Given the description of an element on the screen output the (x, y) to click on. 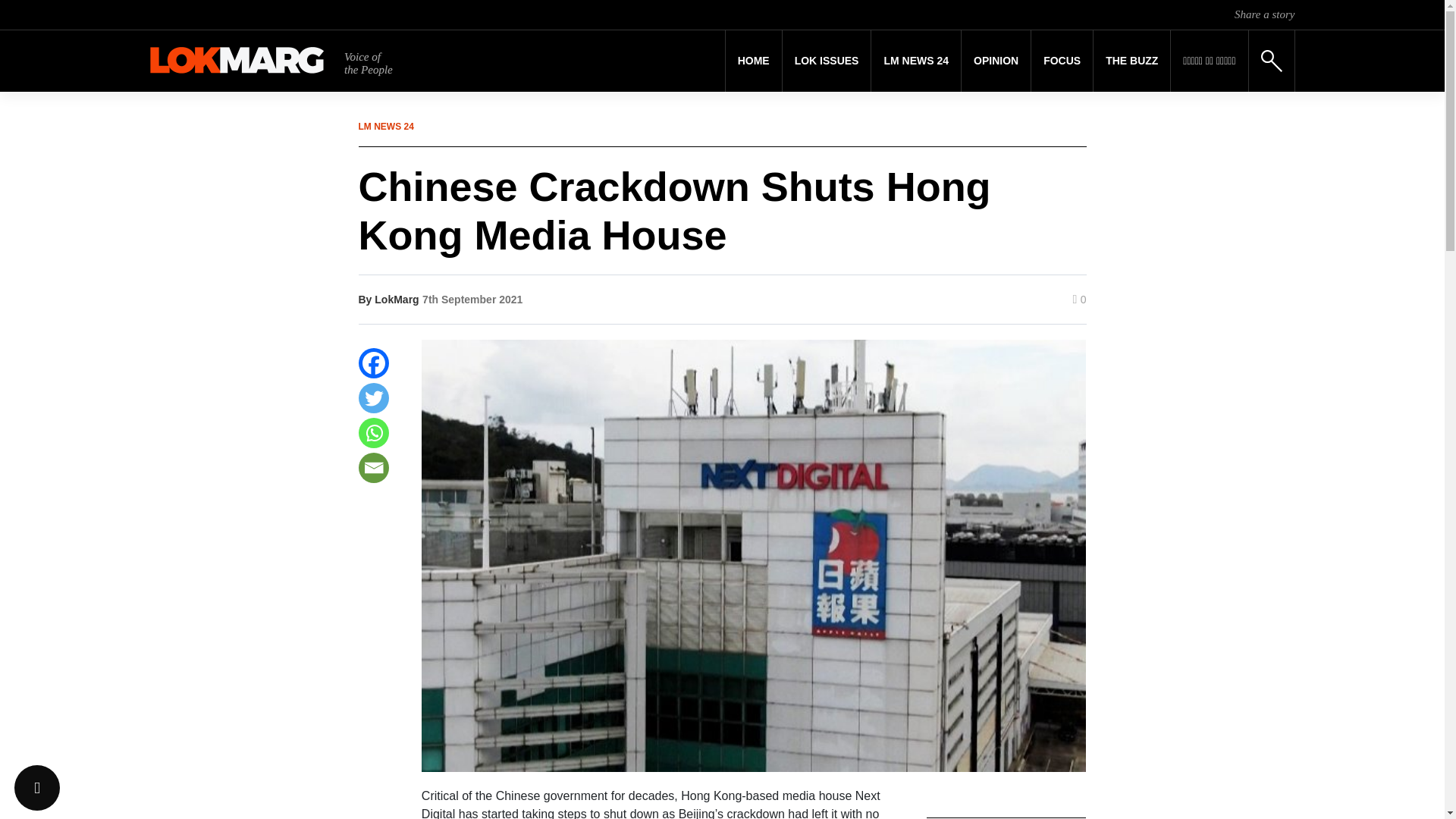
FOCUS (1061, 60)
LOK ISSUES (826, 60)
Focus (1061, 60)
LM NEWS 24 (915, 60)
Share a story (1264, 14)
Lok Issues (826, 60)
THE BUZZ (1131, 60)
THE BUZZ (1131, 60)
Opinion (995, 60)
HOME (753, 60)
